Given the description of an element on the screen output the (x, y) to click on. 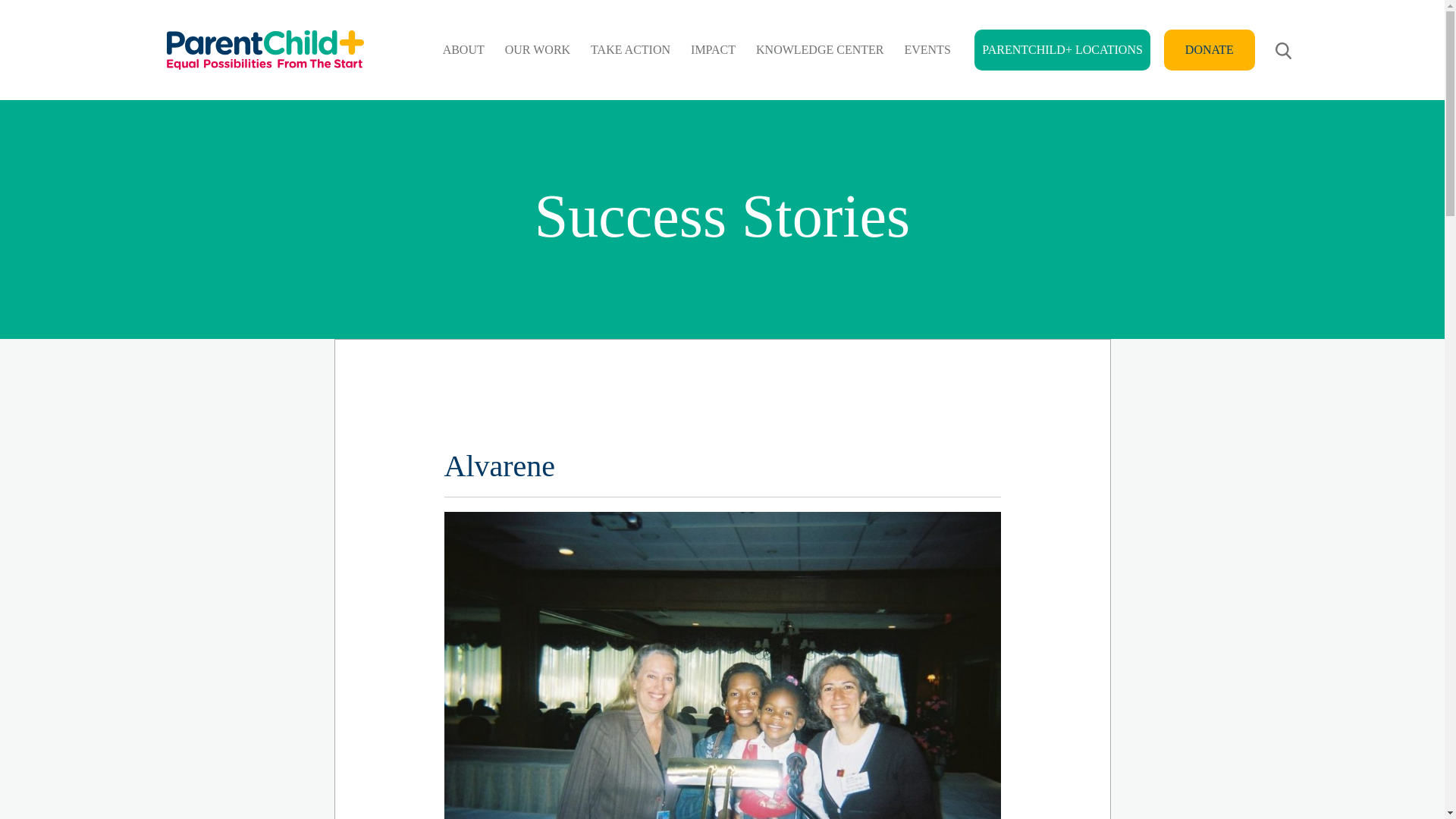
KNOWLEDGE CENTER (819, 49)
ABOUT (463, 49)
Search (1238, 49)
OUR WORK (537, 49)
TAKE ACTION (630, 49)
DONATE (1209, 49)
EVENTS (926, 49)
IMPACT (713, 49)
